Given the description of an element on the screen output the (x, y) to click on. 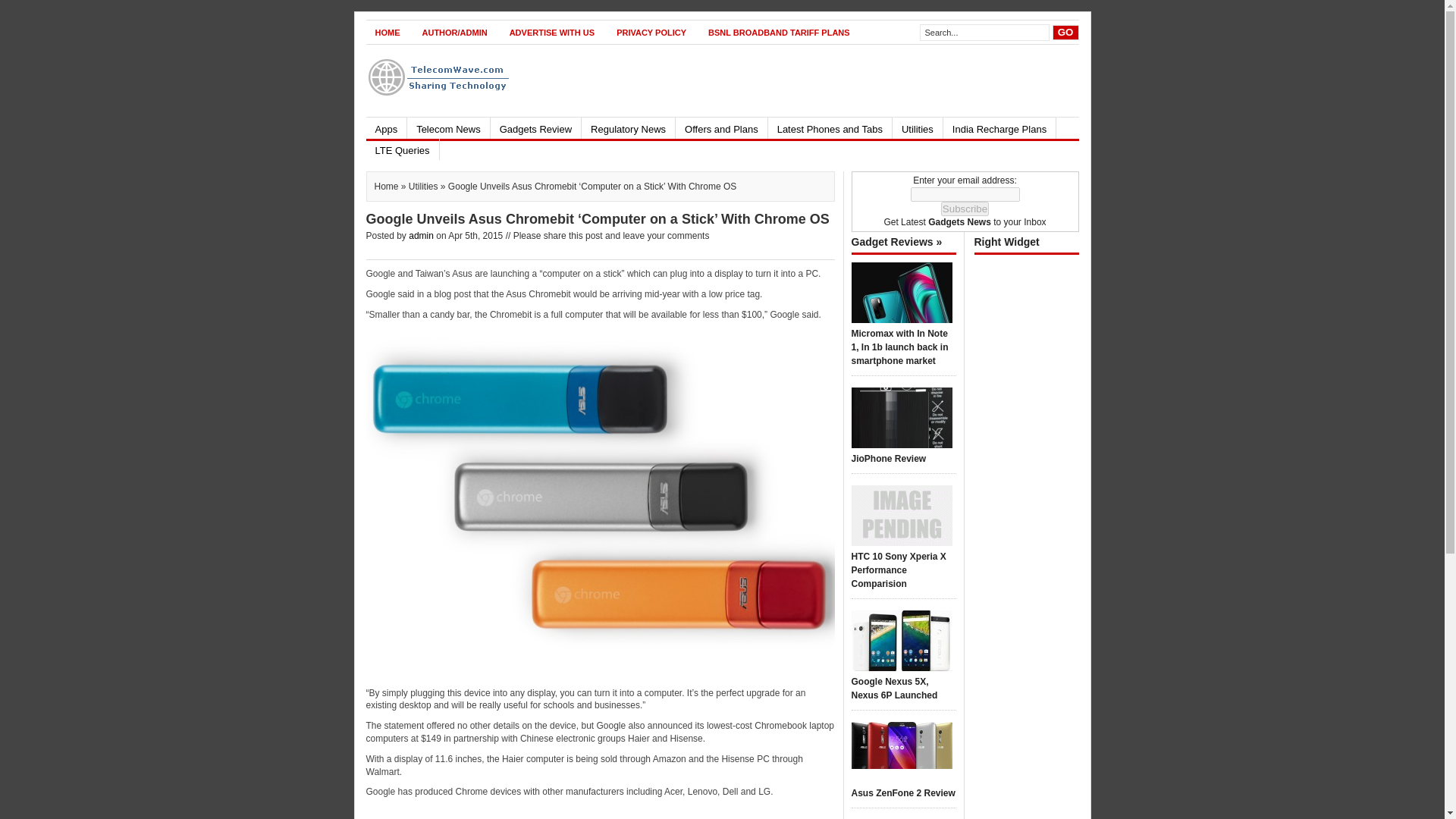
Telecom News (448, 127)
Posts by admin (421, 235)
BSNL BROADBAND TARIFF PLANS (778, 31)
Apps (385, 127)
HOME (387, 31)
India Recharge Plans (999, 127)
Advertisement (801, 79)
Latest Phones and Tabs (829, 127)
Gadgets Review (535, 127)
Search... (984, 32)
